Given the description of an element on the screen output the (x, y) to click on. 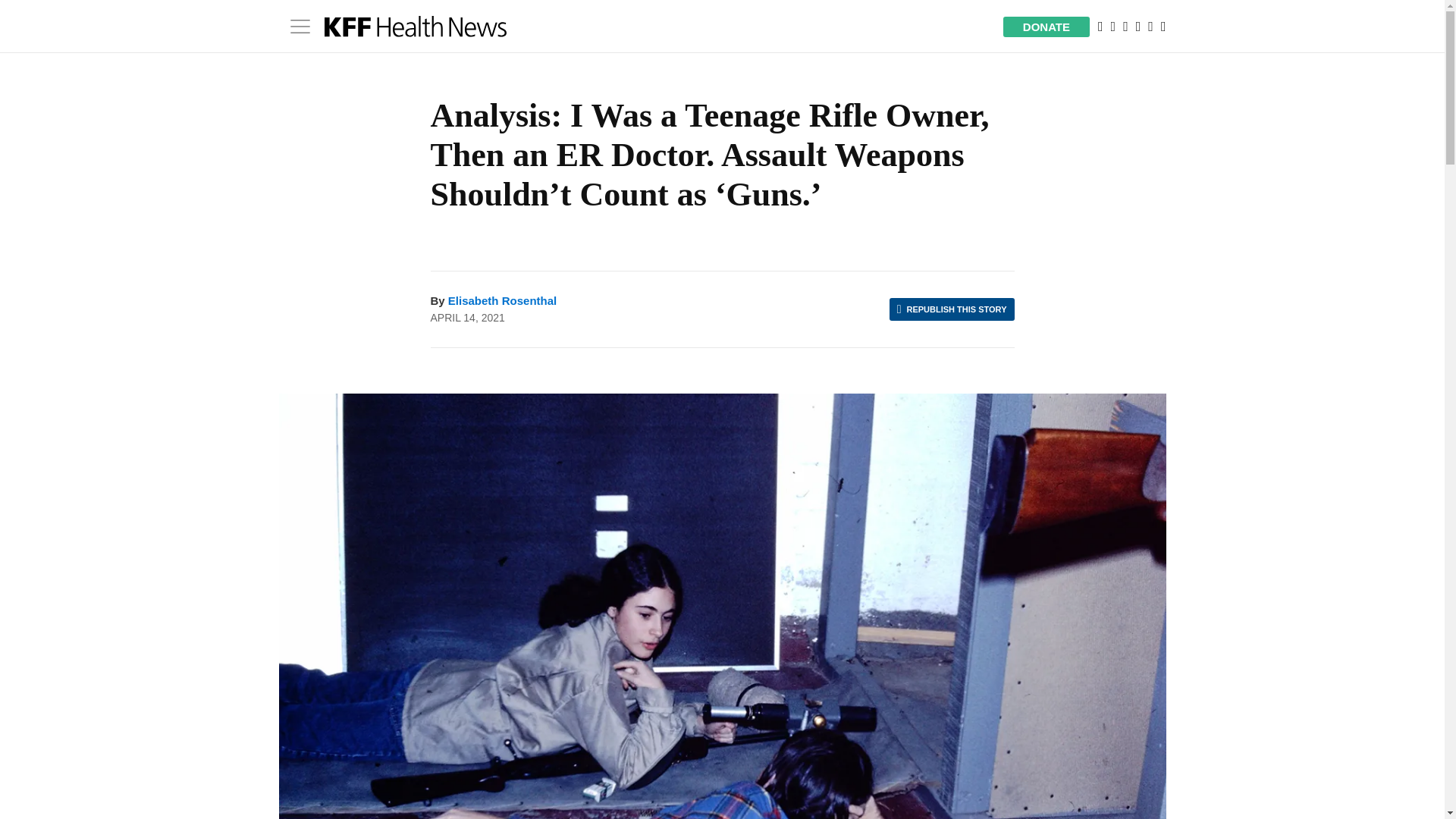
KFF Health News (415, 25)
DONATE (1046, 26)
Click to share (951, 309)
